Given the description of an element on the screen output the (x, y) to click on. 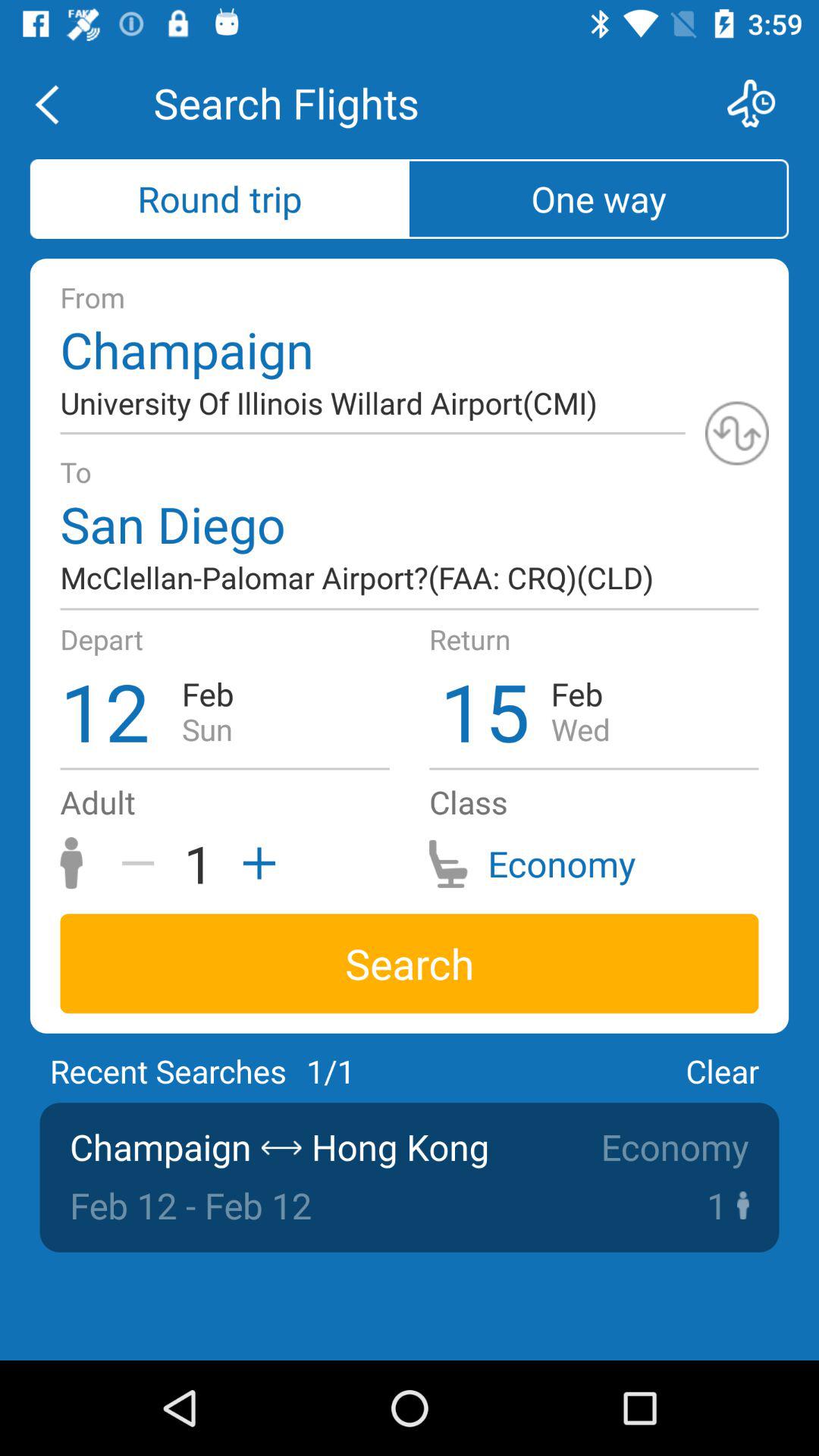
add an adult (254, 863)
